Given the description of an element on the screen output the (x, y) to click on. 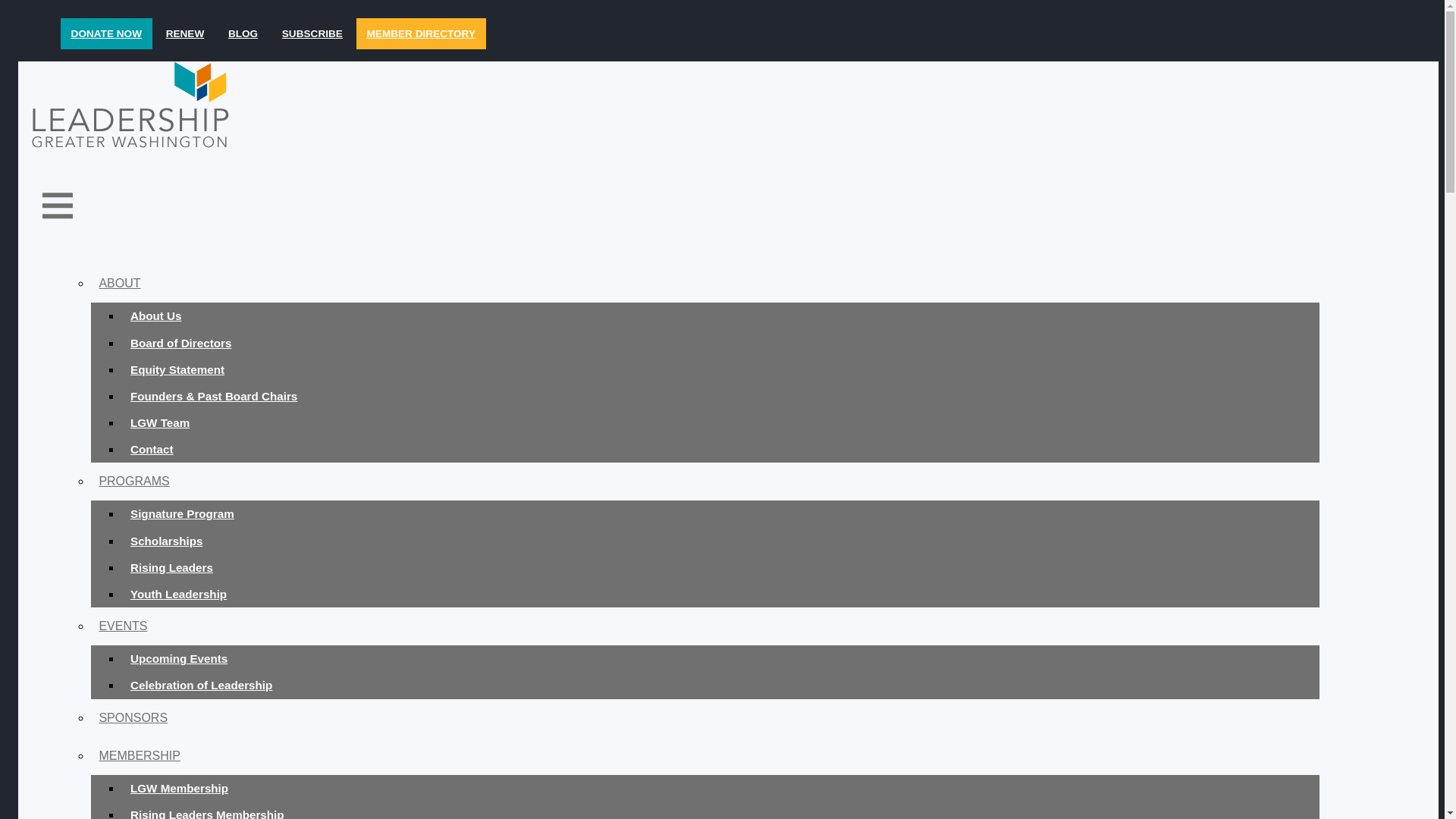
DONATE NOW (106, 33)
RENEW (184, 33)
ABOUT (704, 283)
BLOG (241, 33)
About Us (719, 315)
MEMBER DIRECTORY (421, 33)
Board of Directors (719, 343)
Equity Statement (719, 369)
SUBSCRIBE (311, 33)
Home (668, 104)
